Given the description of an element on the screen output the (x, y) to click on. 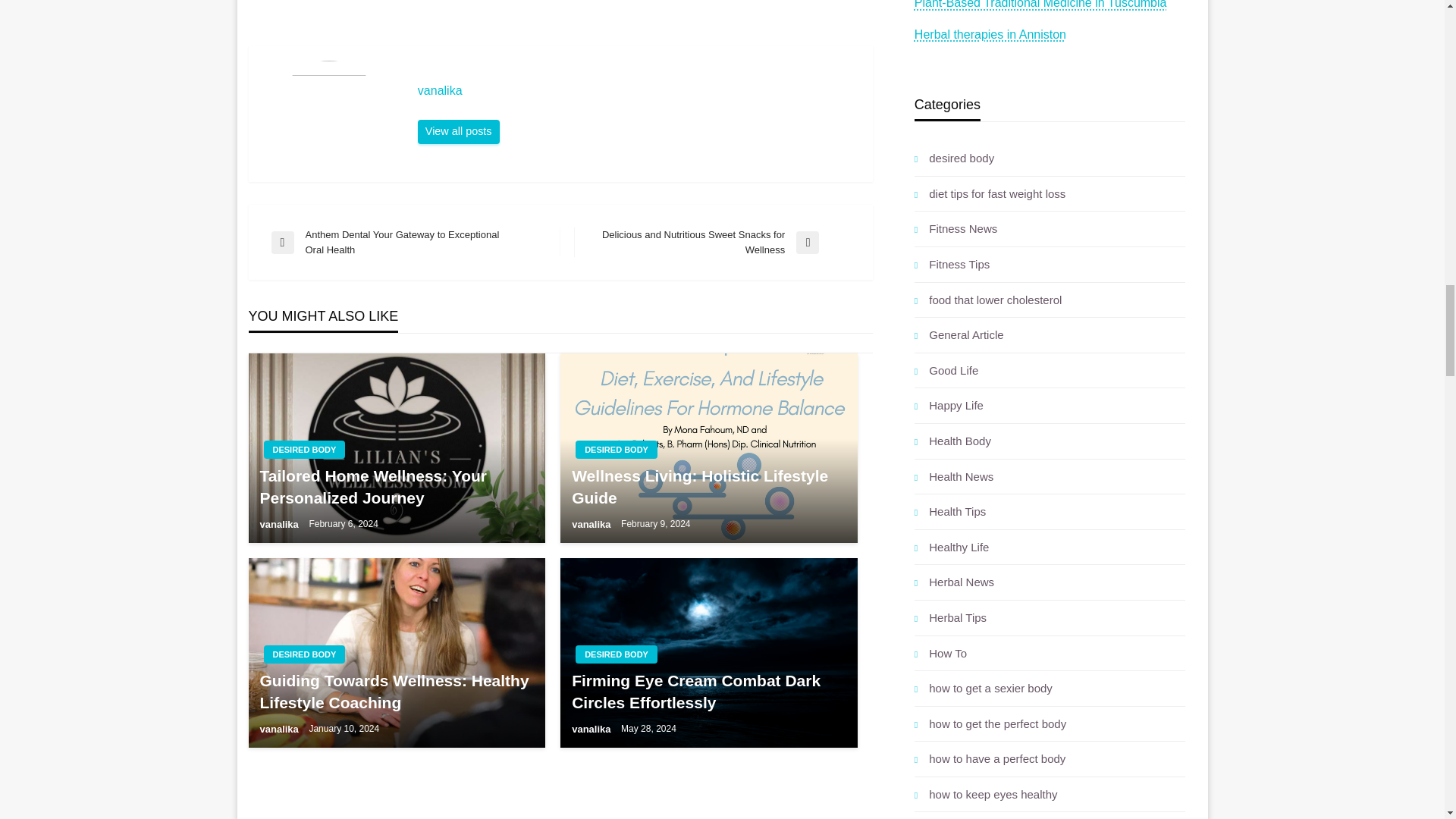
vanalika (637, 90)
Firming Eye Cream Combat Dark Circles Effortlessly (708, 652)
Tailored Home Wellness: Your Personalized Journey (397, 447)
vanalika (458, 131)
Wellness Living: Holistic Lifestyle Guide (708, 447)
Guiding Towards Wellness: Healthy Lifestyle Coaching (397, 652)
